Given the description of an element on the screen output the (x, y) to click on. 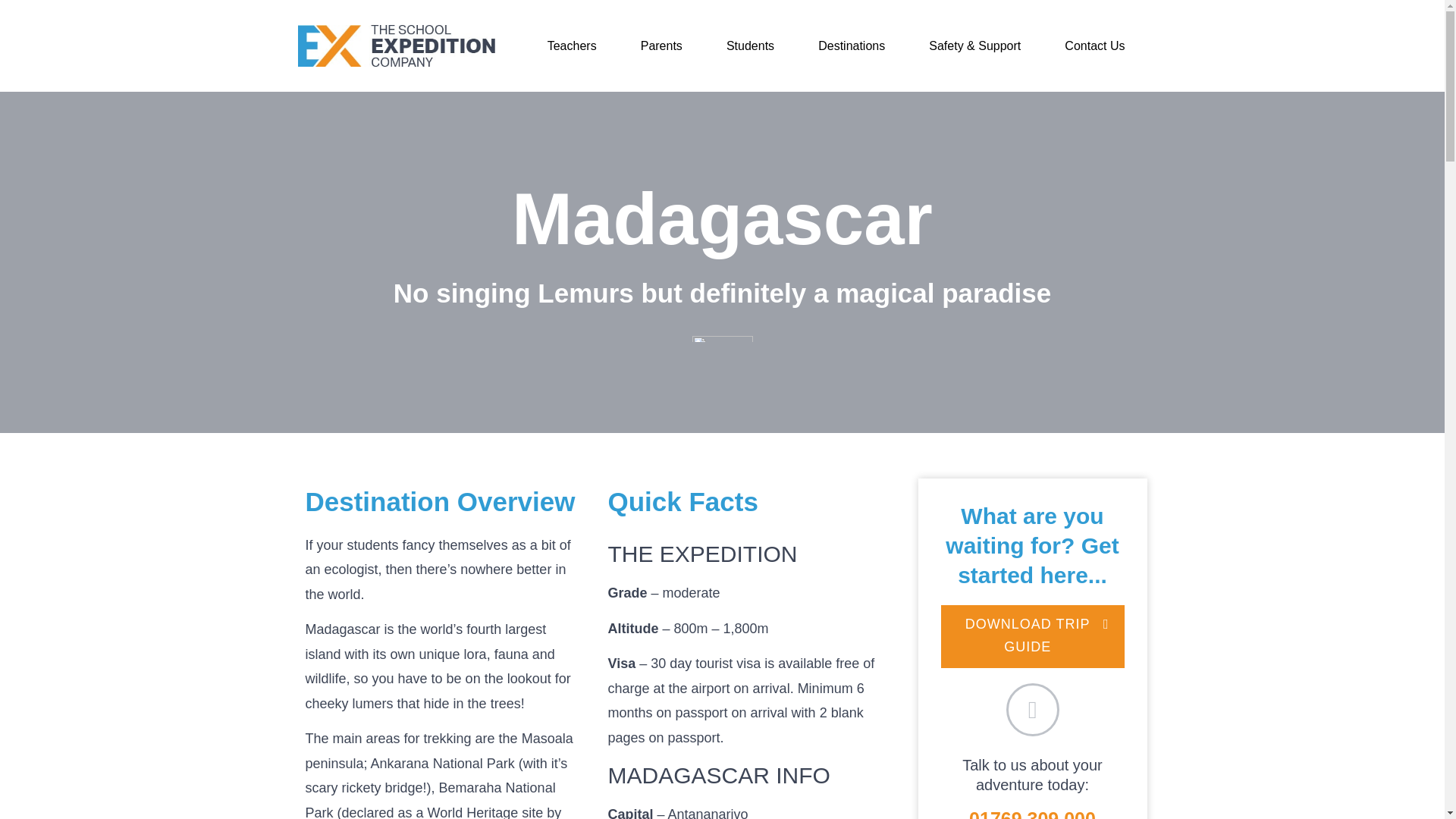
DOWNLOAD TRIP GUIDE (1032, 636)
Contact Us (1094, 45)
Destinations (851, 45)
Teachers (571, 45)
Students (750, 45)
Talk to us about your adventure today: (1032, 774)
Parents (661, 45)
